Given the description of an element on the screen output the (x, y) to click on. 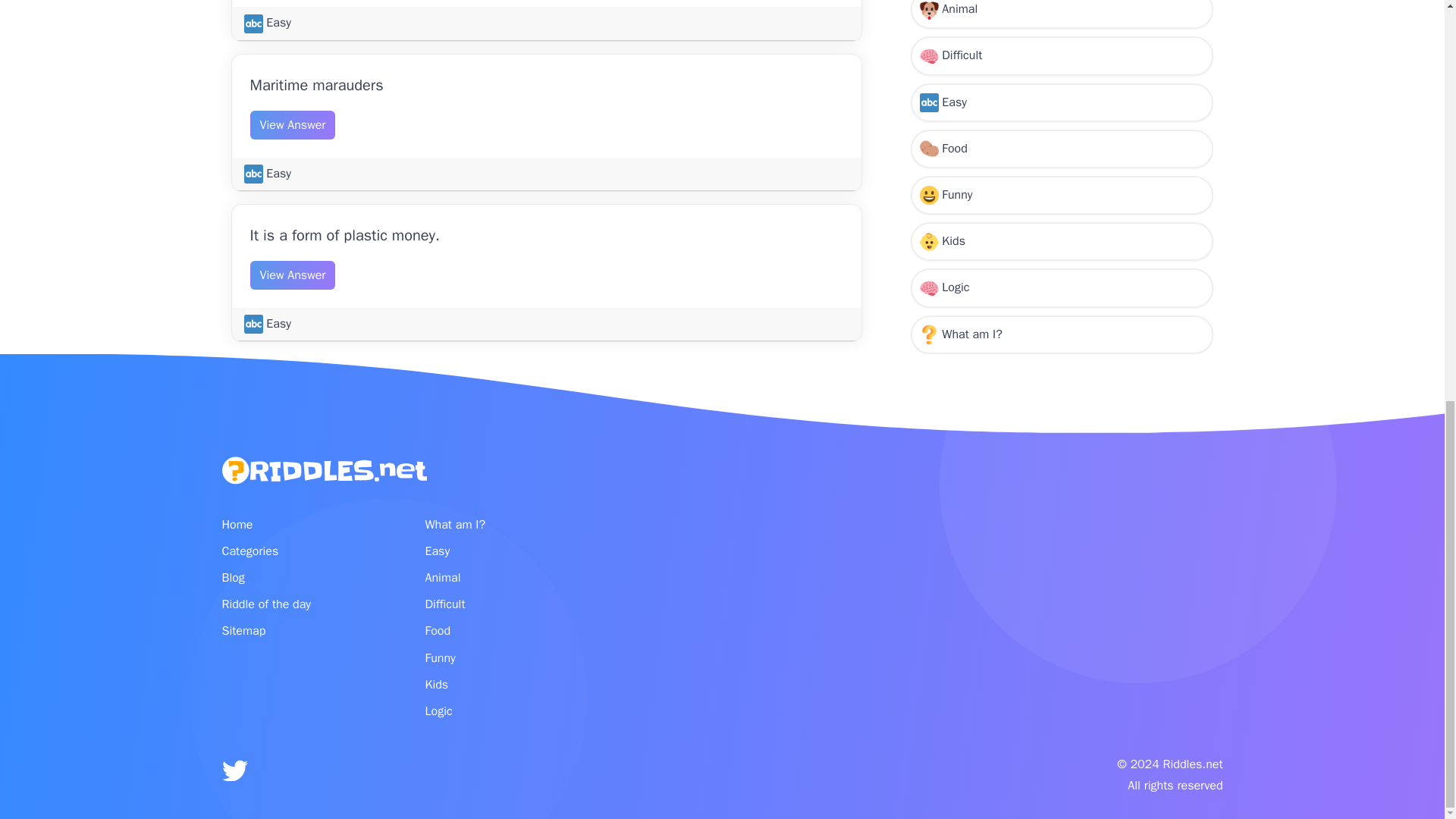
Logic (1061, 43)
View Answer (293, 275)
View Answer (293, 124)
Easy (267, 173)
Maritime marauders (317, 85)
Riddle of the day (304, 604)
Blog (304, 578)
Home (304, 524)
What am I? (1061, 90)
It is a form of plastic money. (344, 235)
Easy (267, 22)
Easy (267, 323)
Kids (1061, 8)
Categories (304, 551)
